Given the description of an element on the screen output the (x, y) to click on. 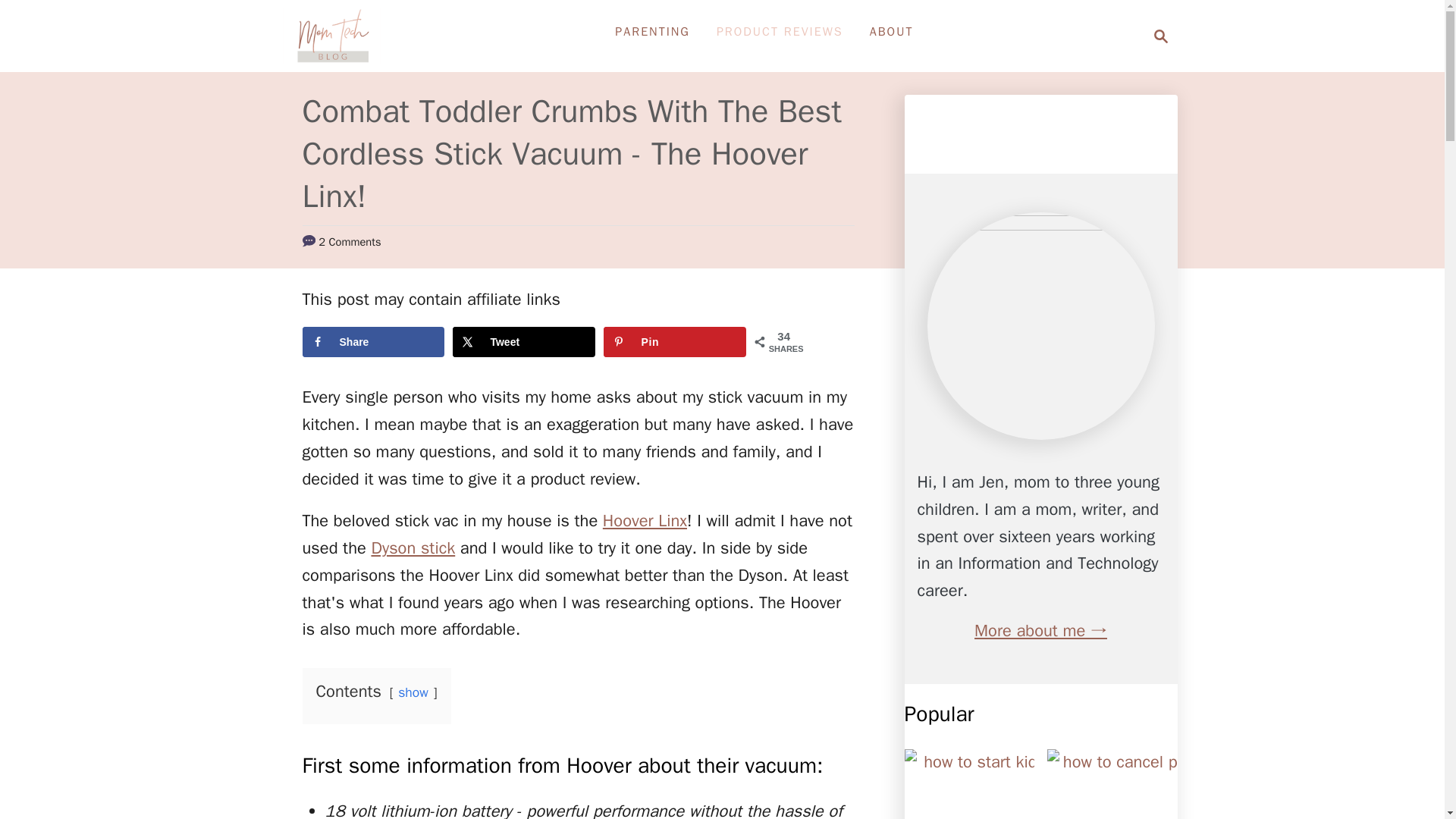
Share on Facebook (372, 341)
Share (372, 341)
Tweet (523, 341)
ABOUT (891, 31)
PRODUCT REVIEWS (779, 31)
show (412, 692)
PARENTING (652, 31)
Save to Pinterest (674, 341)
Pin (674, 341)
